Given the description of an element on the screen output the (x, y) to click on. 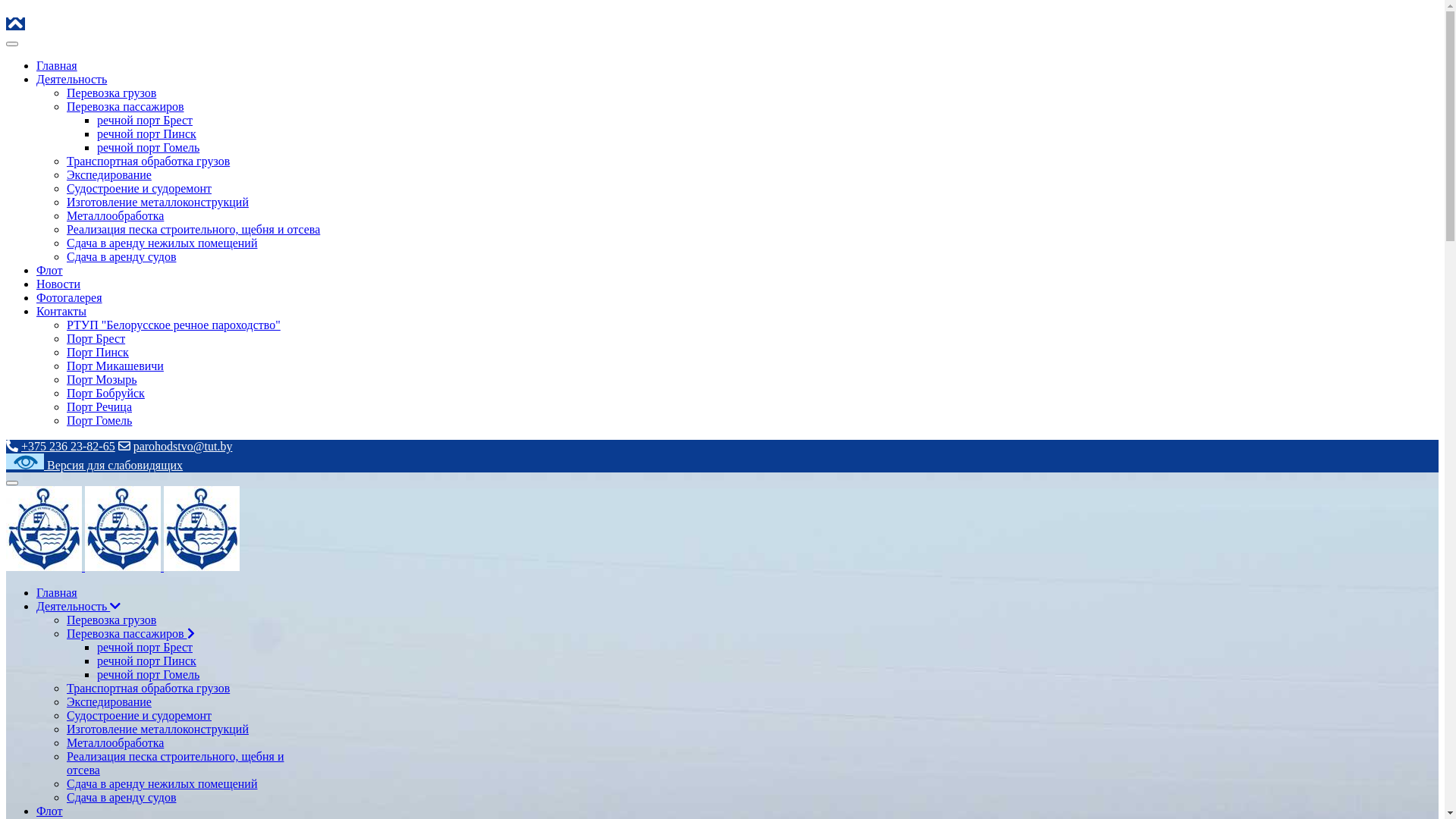
parohodstvo@tut.by Element type: text (182, 445)
+375 236 23-82-65 Element type: text (68, 445)
